Given the description of an element on the screen output the (x, y) to click on. 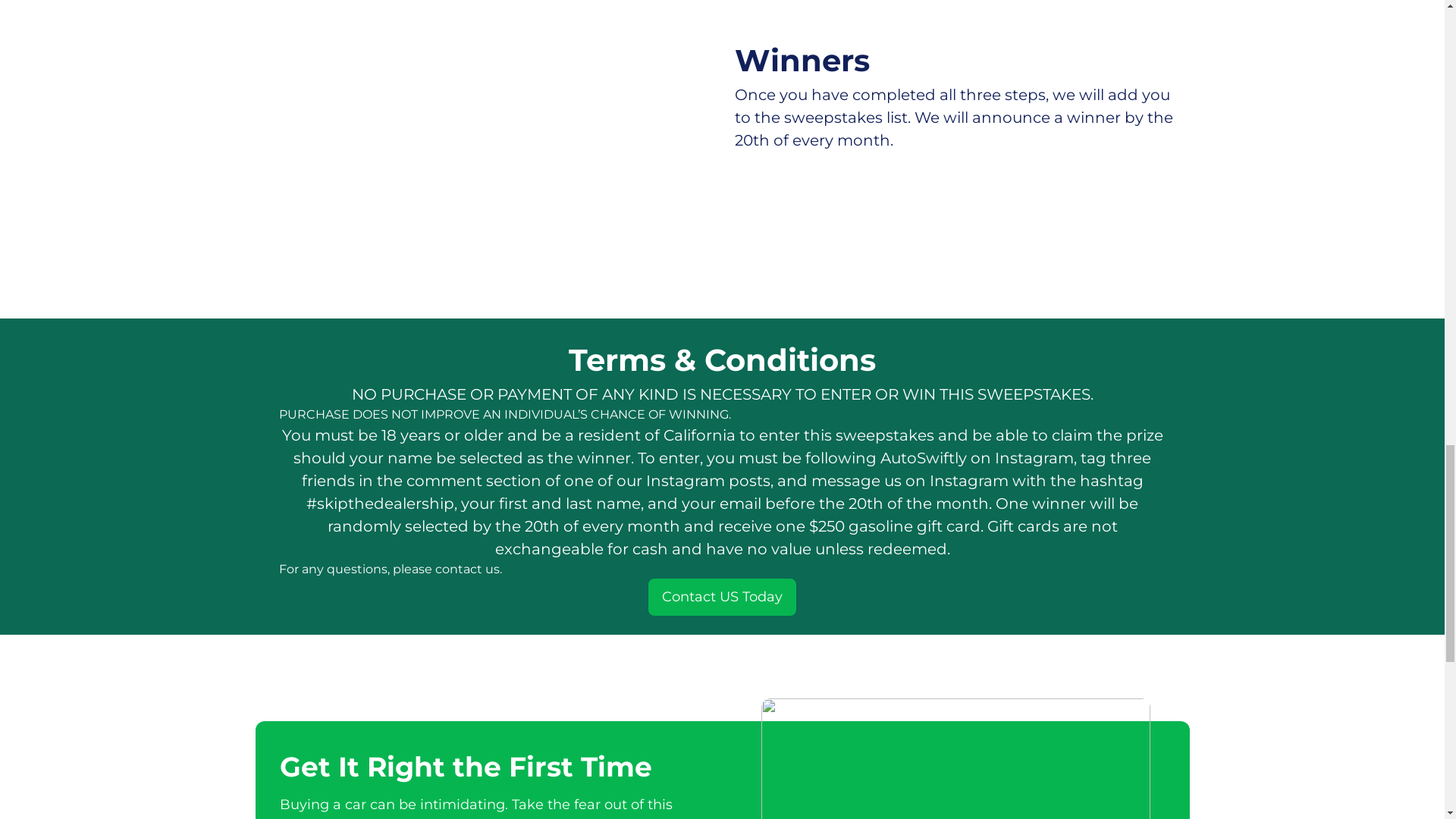
Contact US Today (721, 596)
